Given the description of an element on the screen output the (x, y) to click on. 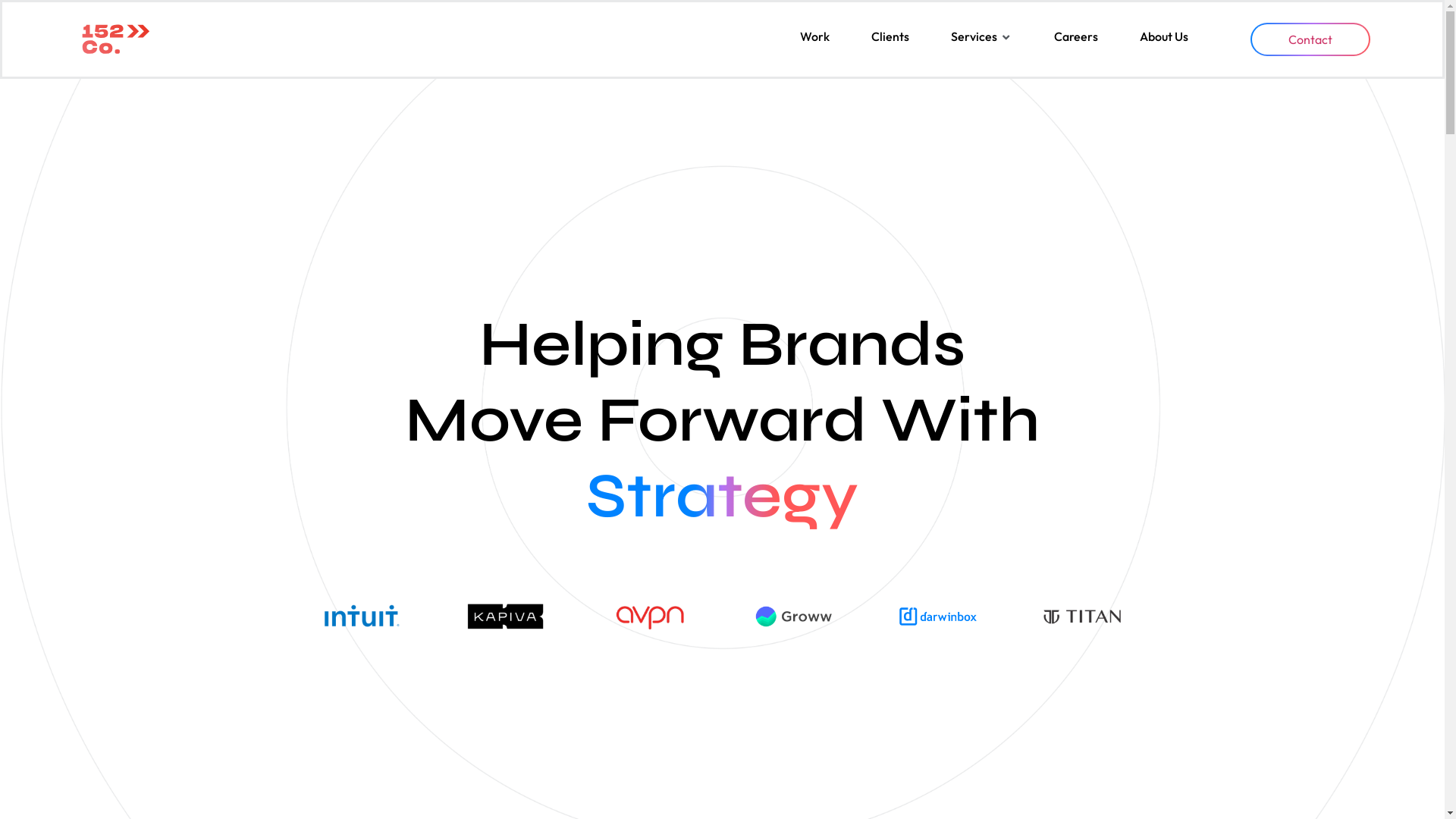
Contact Element type: text (1310, 39)
Contact Element type: text (1310, 39)
Careers Element type: text (1076, 35)
Clients Element type: text (890, 35)
Services Element type: text (973, 35)
About Us Element type: text (1163, 35)
Work Element type: text (814, 35)
